Given the description of an element on the screen output the (x, y) to click on. 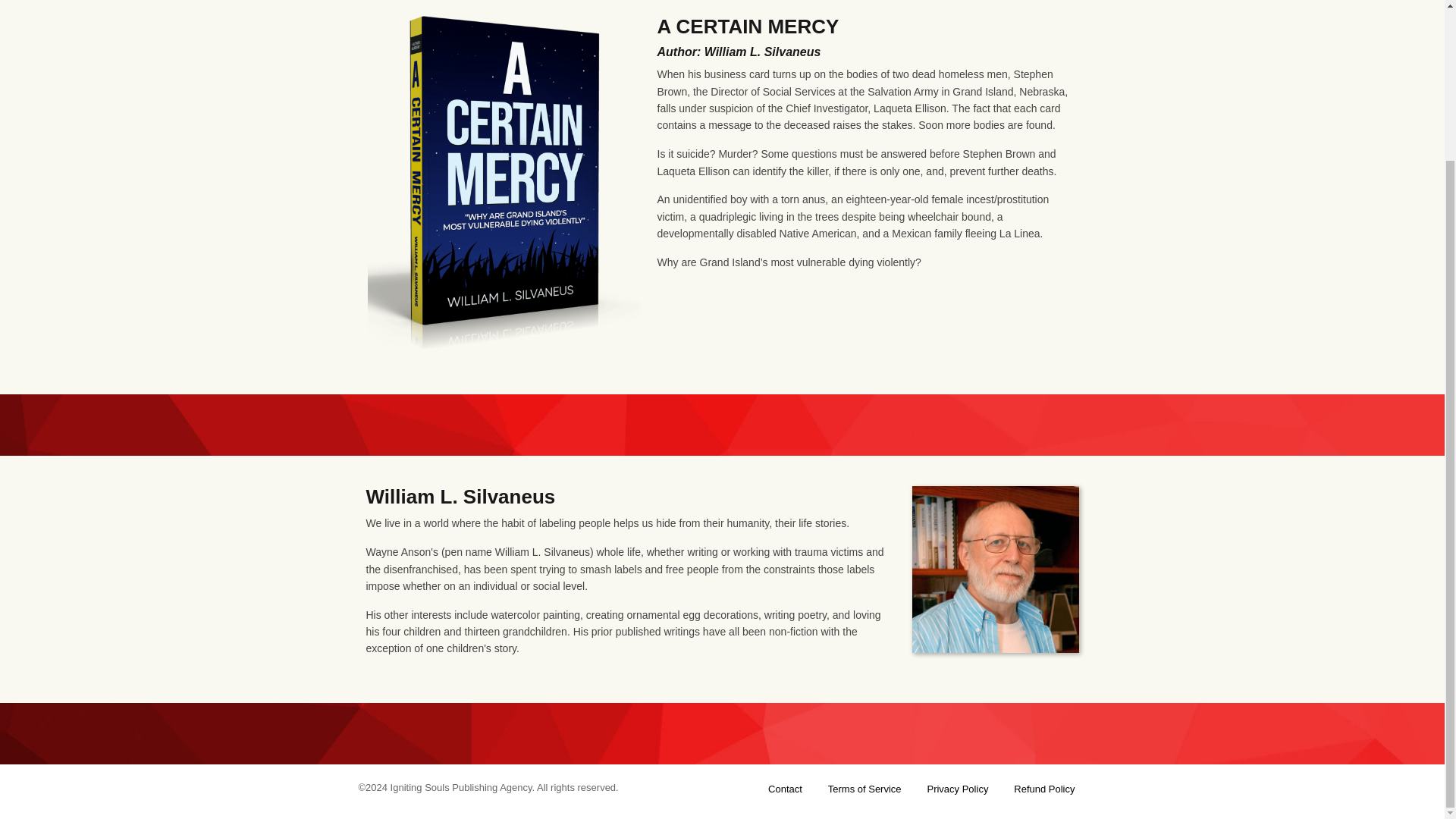
Refund Policy (1043, 788)
Contact (785, 788)
Privacy Policy (957, 788)
Terms of Service (864, 788)
